Given the description of an element on the screen output the (x, y) to click on. 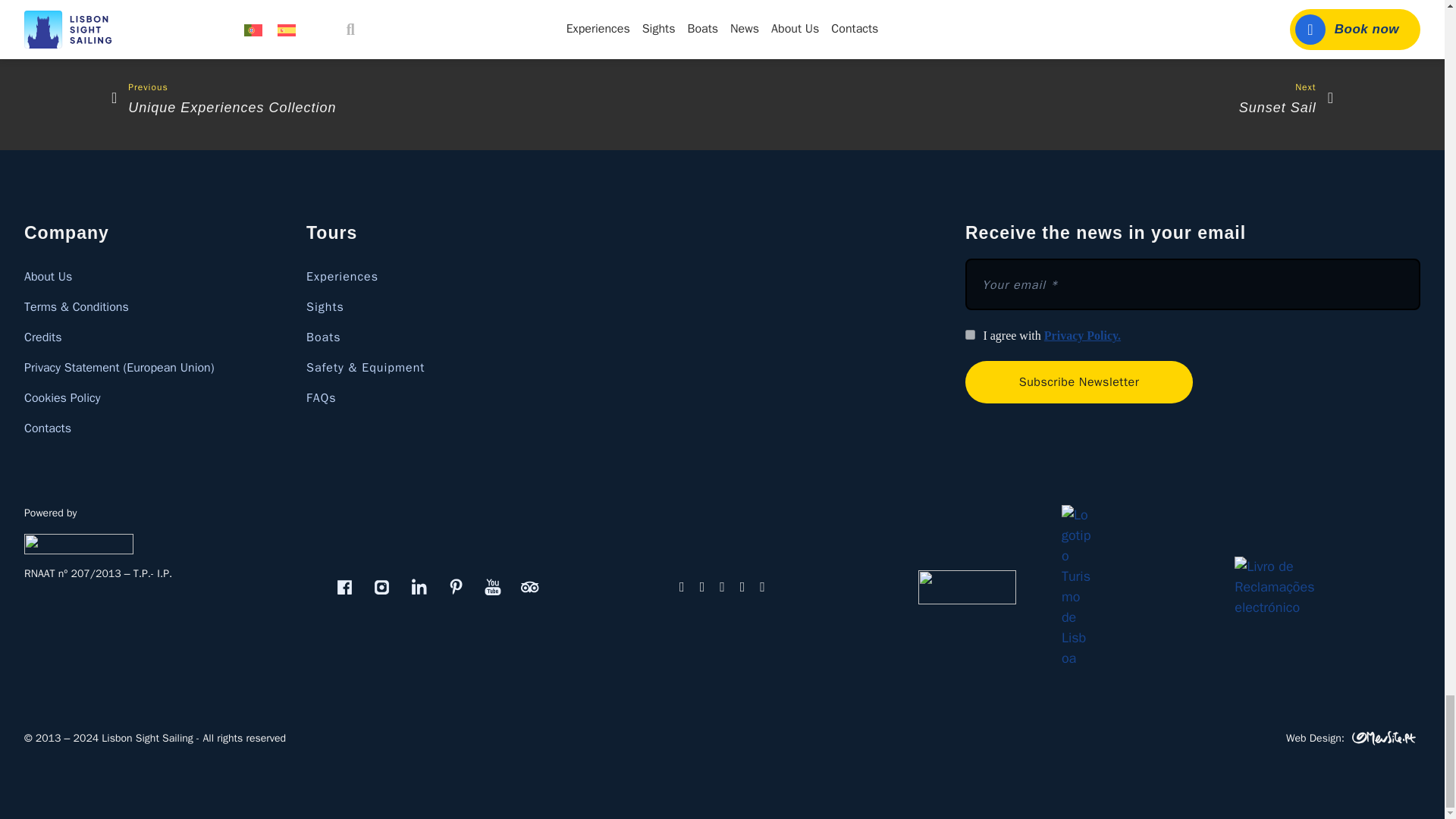
Instagram (381, 587)
Pinterest (455, 587)
Tripadviser (530, 587)
Real Dreams (81, 543)
LinkedIn (418, 587)
Facebook (343, 587)
Turismo de Lisboa (1075, 586)
I agree with Privacy Policy. (970, 334)
Turismo de Portugal (967, 586)
Youtube (492, 587)
